Given the description of an element on the screen output the (x, y) to click on. 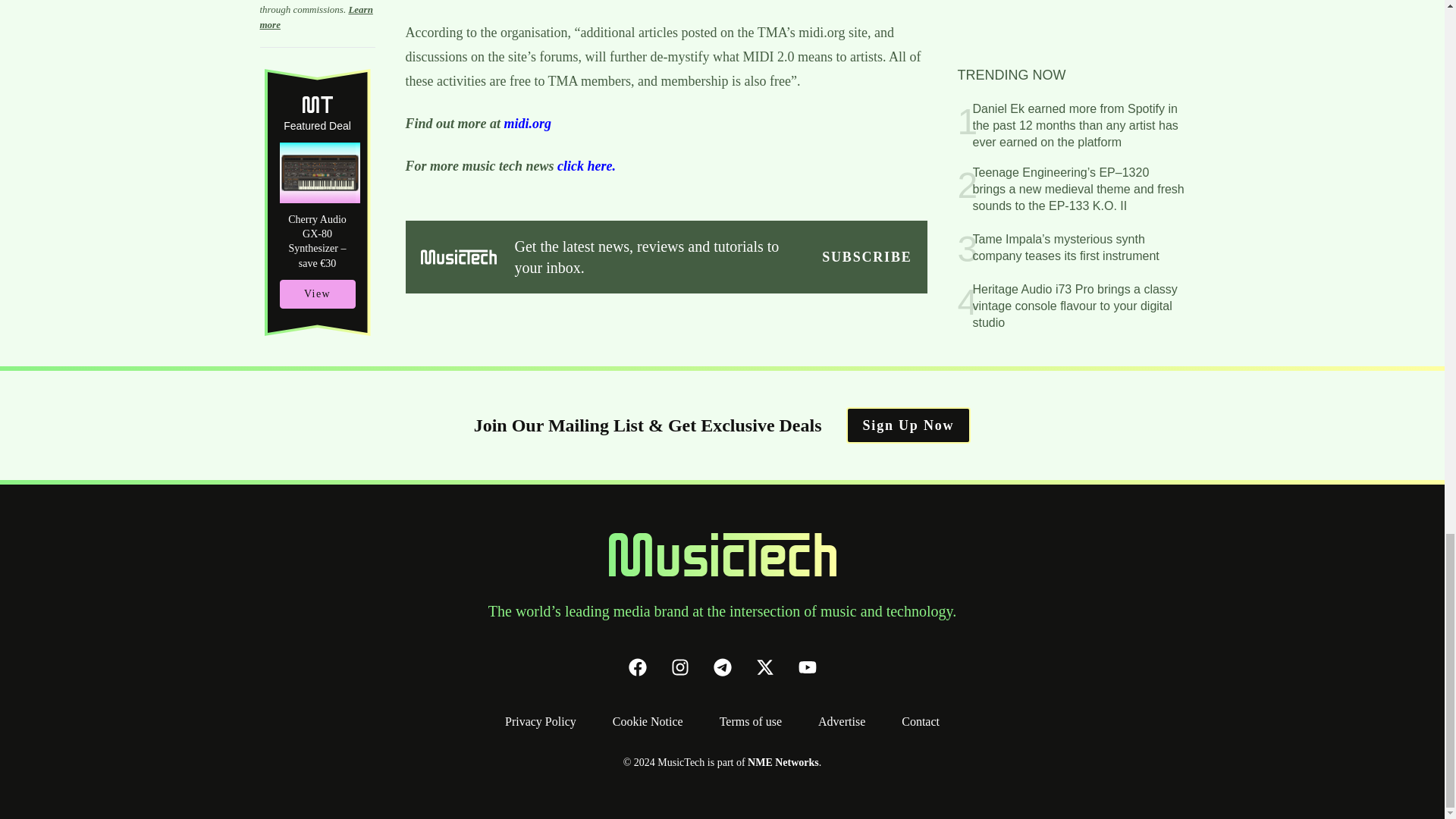
SUBSCRIBE (866, 256)
midi.org (527, 123)
Join our mailing list (866, 256)
click here.  (587, 165)
